Given the description of an element on the screen output the (x, y) to click on. 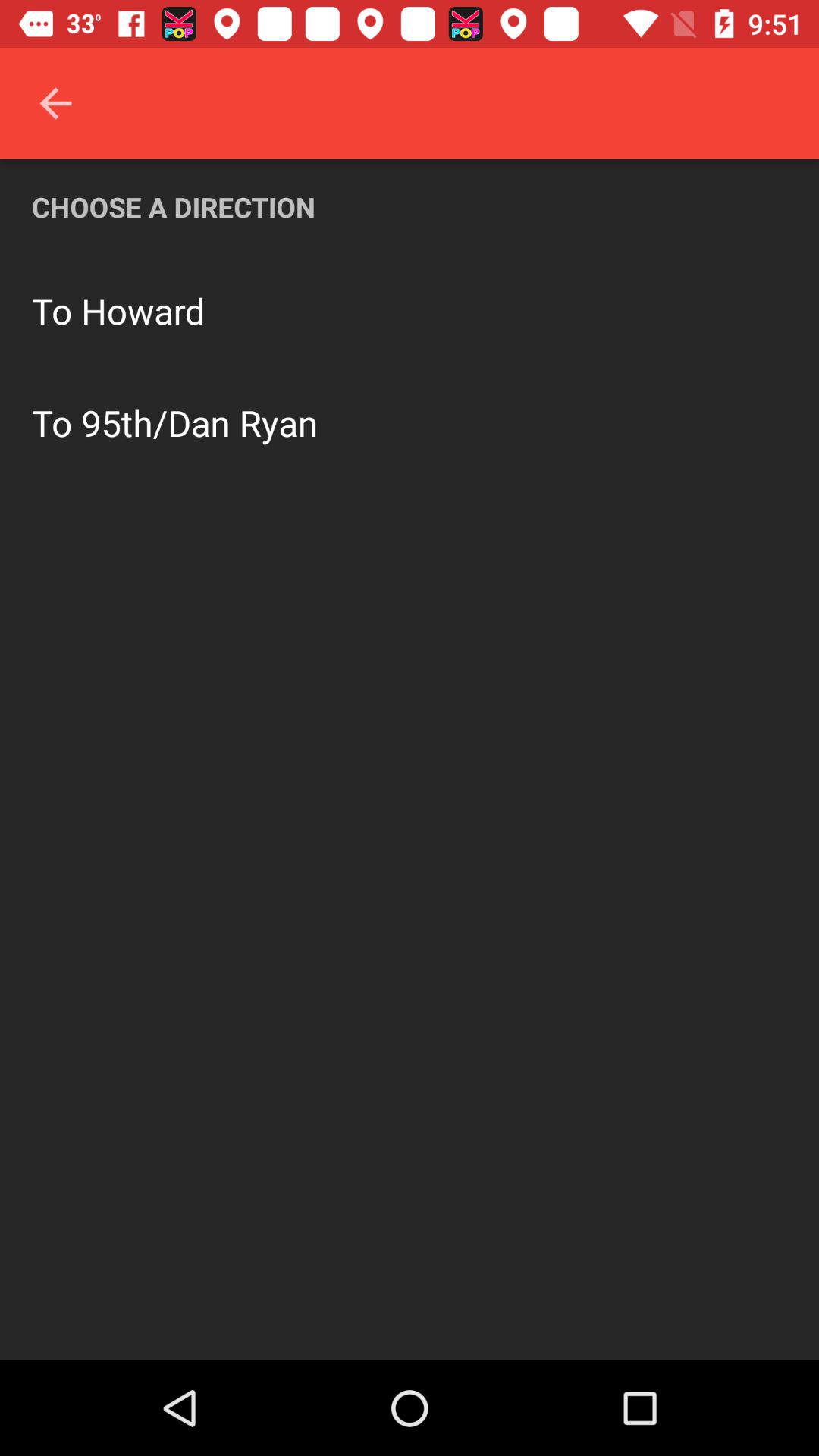
jump to 95th/dan ryan (199, 422)
